Given the description of an element on the screen output the (x, y) to click on. 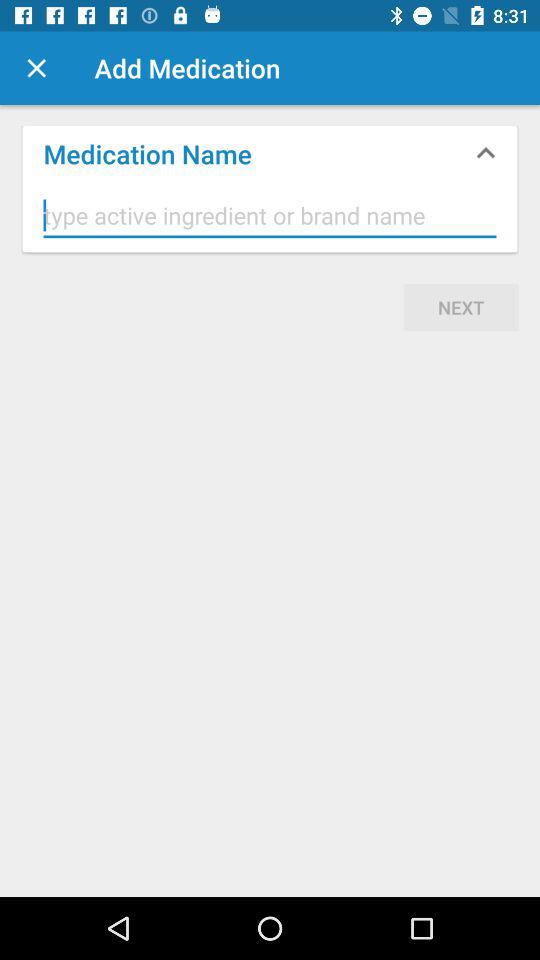
box to type ingredient or brand name (269, 216)
